Given the description of an element on the screen output the (x, y) to click on. 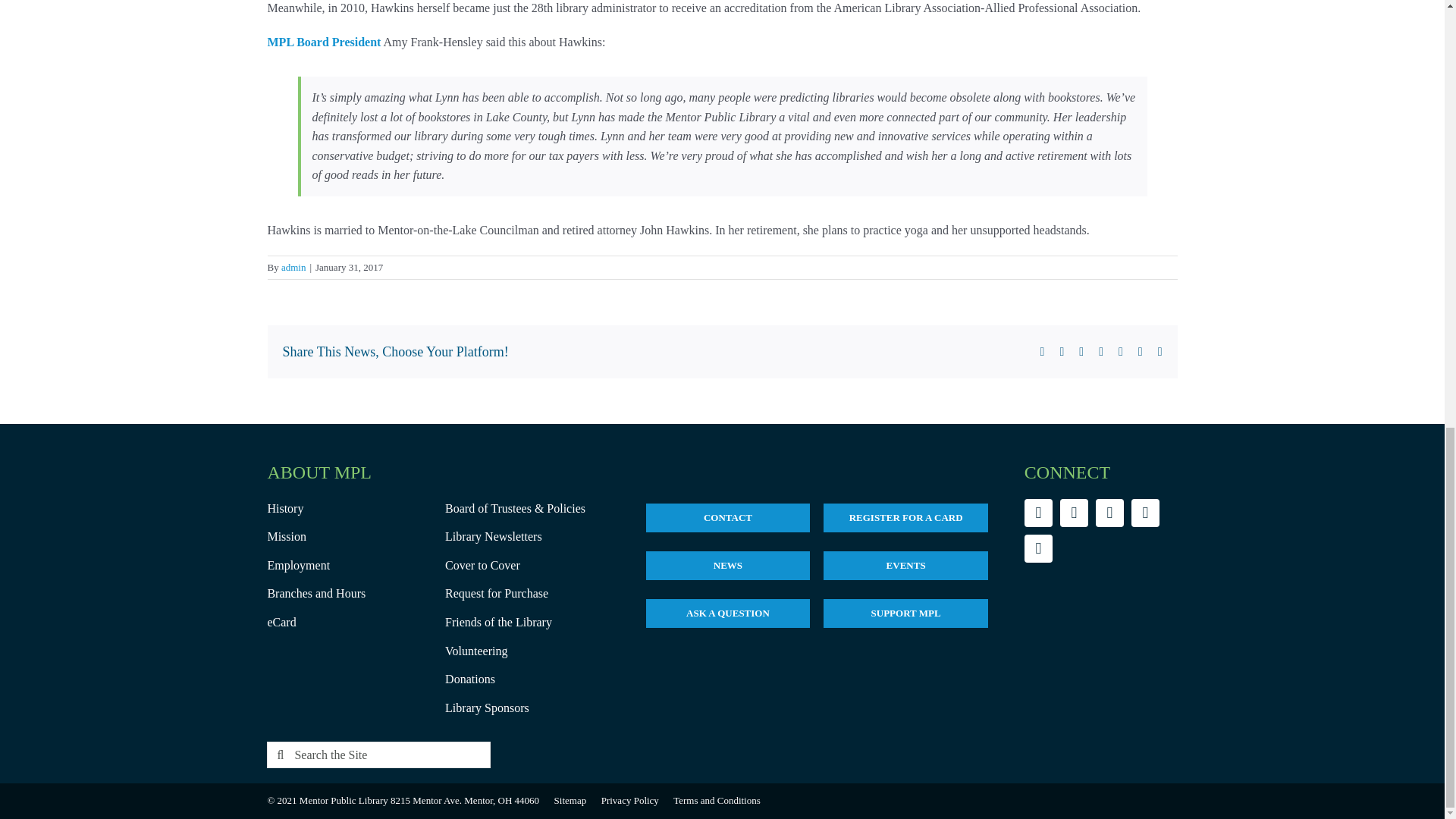
Posts by admin (293, 266)
